Given the description of an element on the screen output the (x, y) to click on. 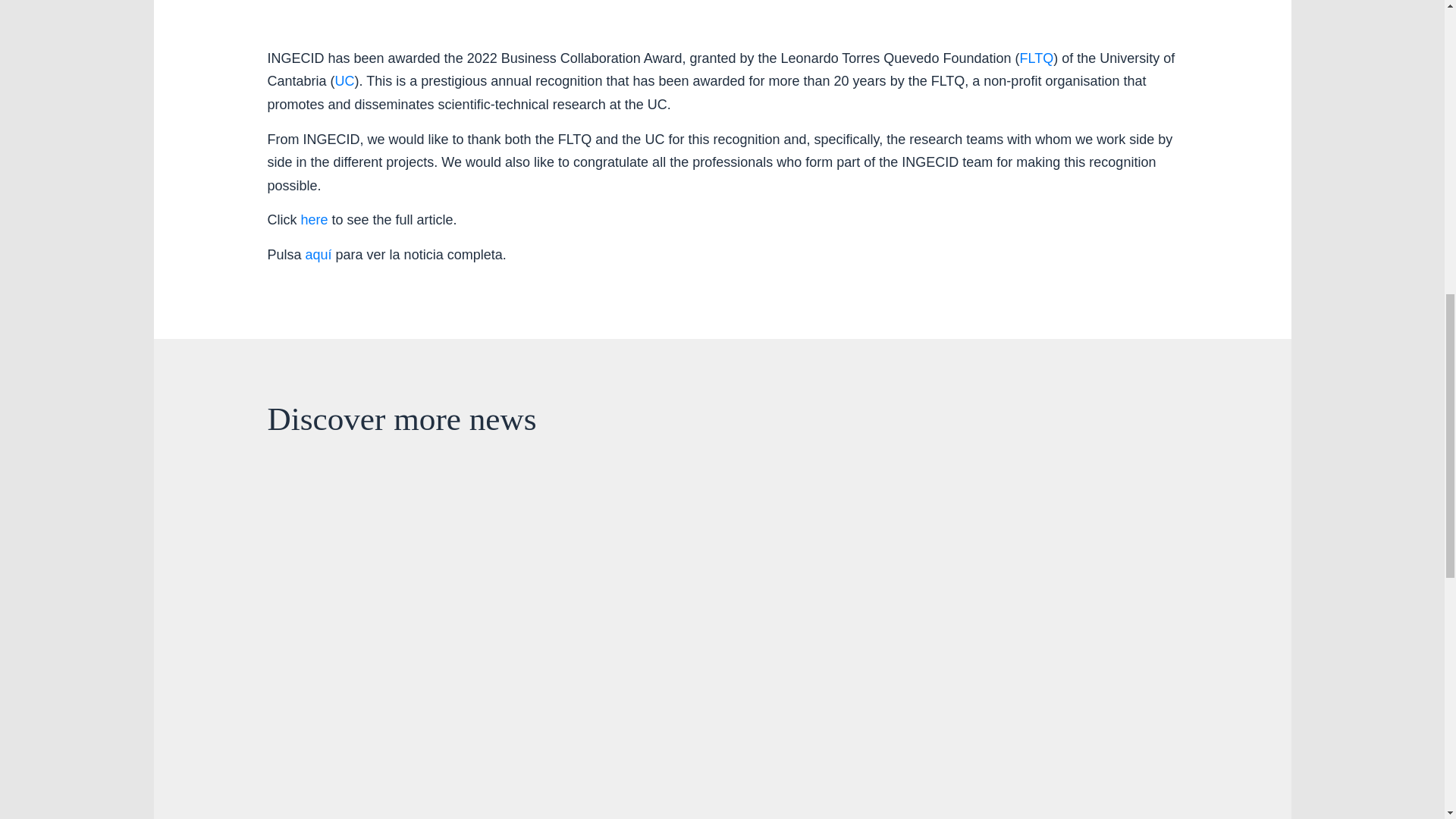
here (313, 219)
UC (344, 80)
FLTQ (1035, 58)
